Given the description of an element on the screen output the (x, y) to click on. 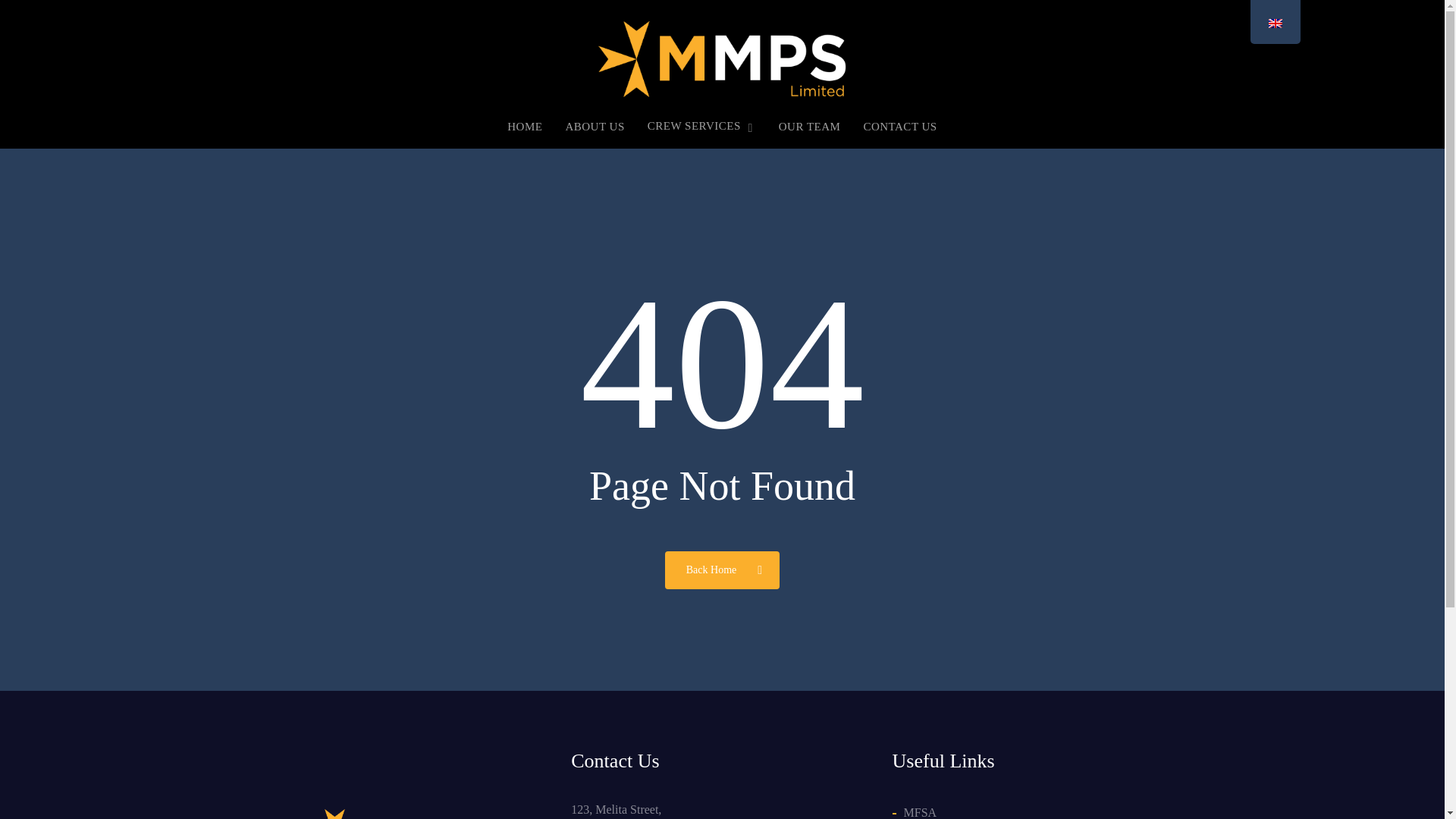
OUR TEAM (809, 134)
CREW SERVICES (701, 134)
English (1274, 22)
HOME (523, 134)
CONTACT US (899, 134)
ABOUT US (594, 134)
Back Home (721, 569)
MFSA (1048, 809)
